Given the description of an element on the screen output the (x, y) to click on. 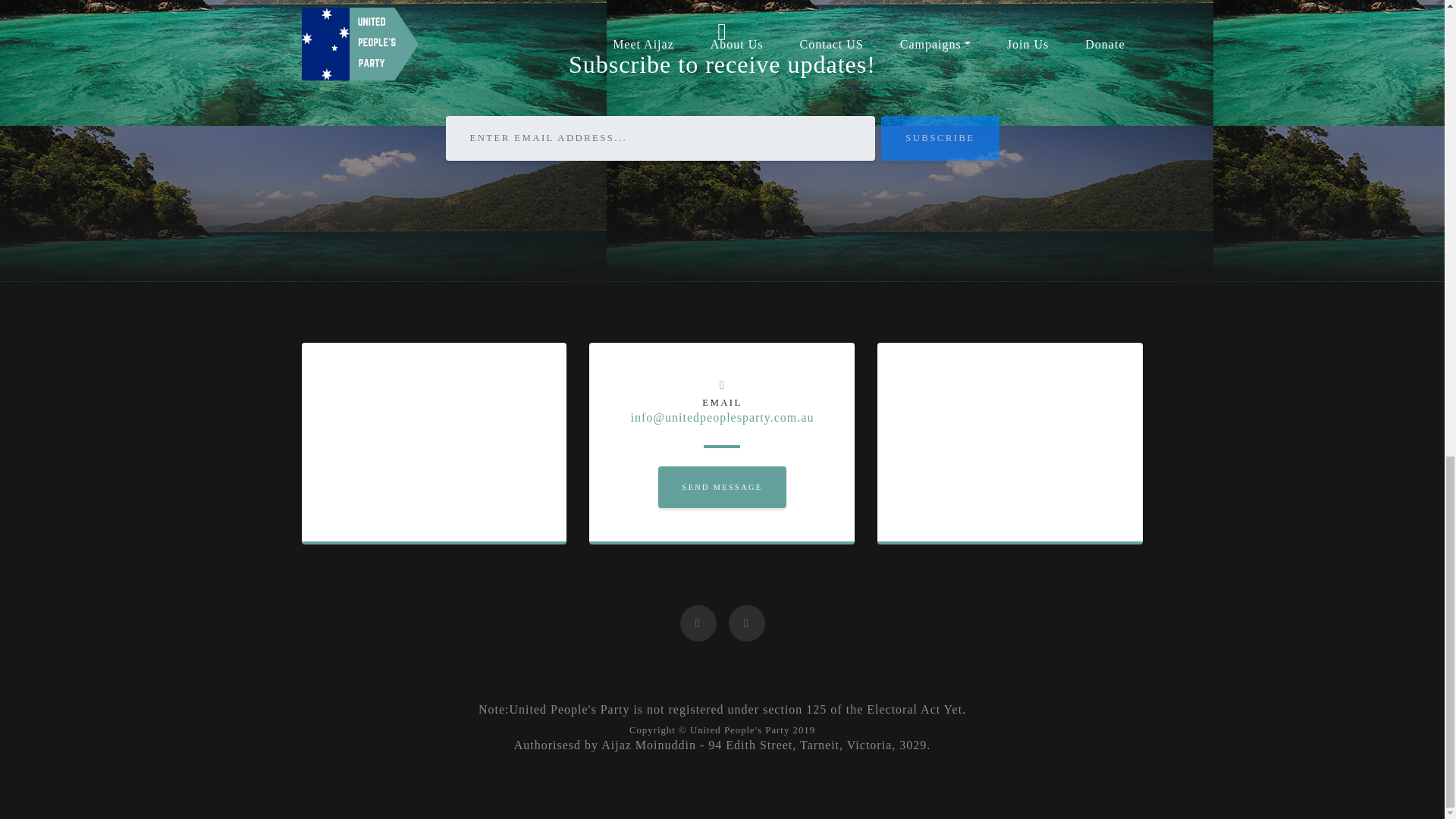
SEND MESSAGE (722, 486)
SEND MESSAGE (722, 486)
SUBSCRIBE (939, 138)
